Given the description of an element on the screen output the (x, y) to click on. 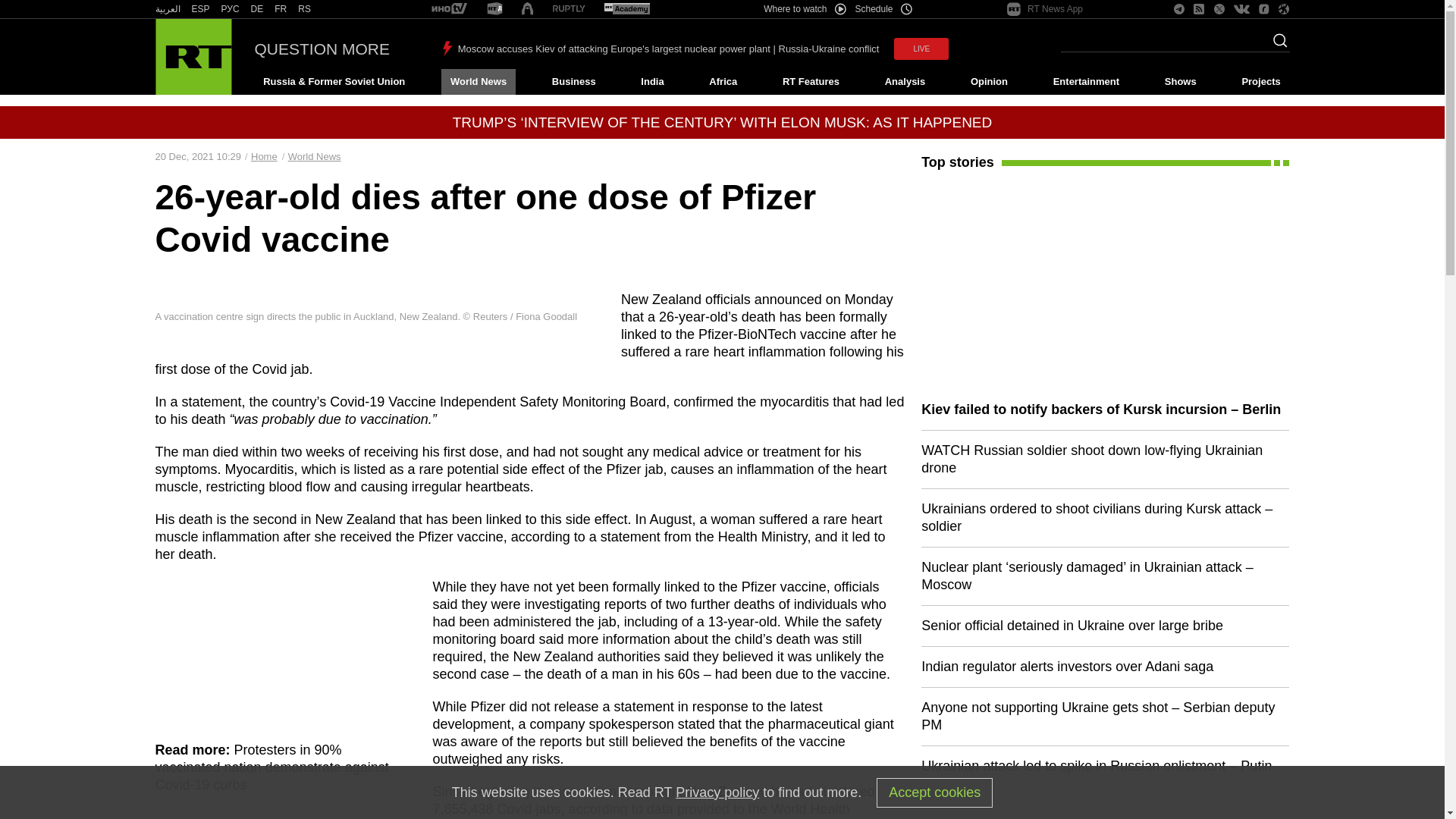
Projects (1261, 81)
RT  (199, 9)
RT  (304, 9)
Opinion (988, 81)
RS (304, 9)
India (651, 81)
RT  (626, 9)
Shows (1180, 81)
RT News App (1045, 9)
Where to watch (803, 9)
